Given the description of an element on the screen output the (x, y) to click on. 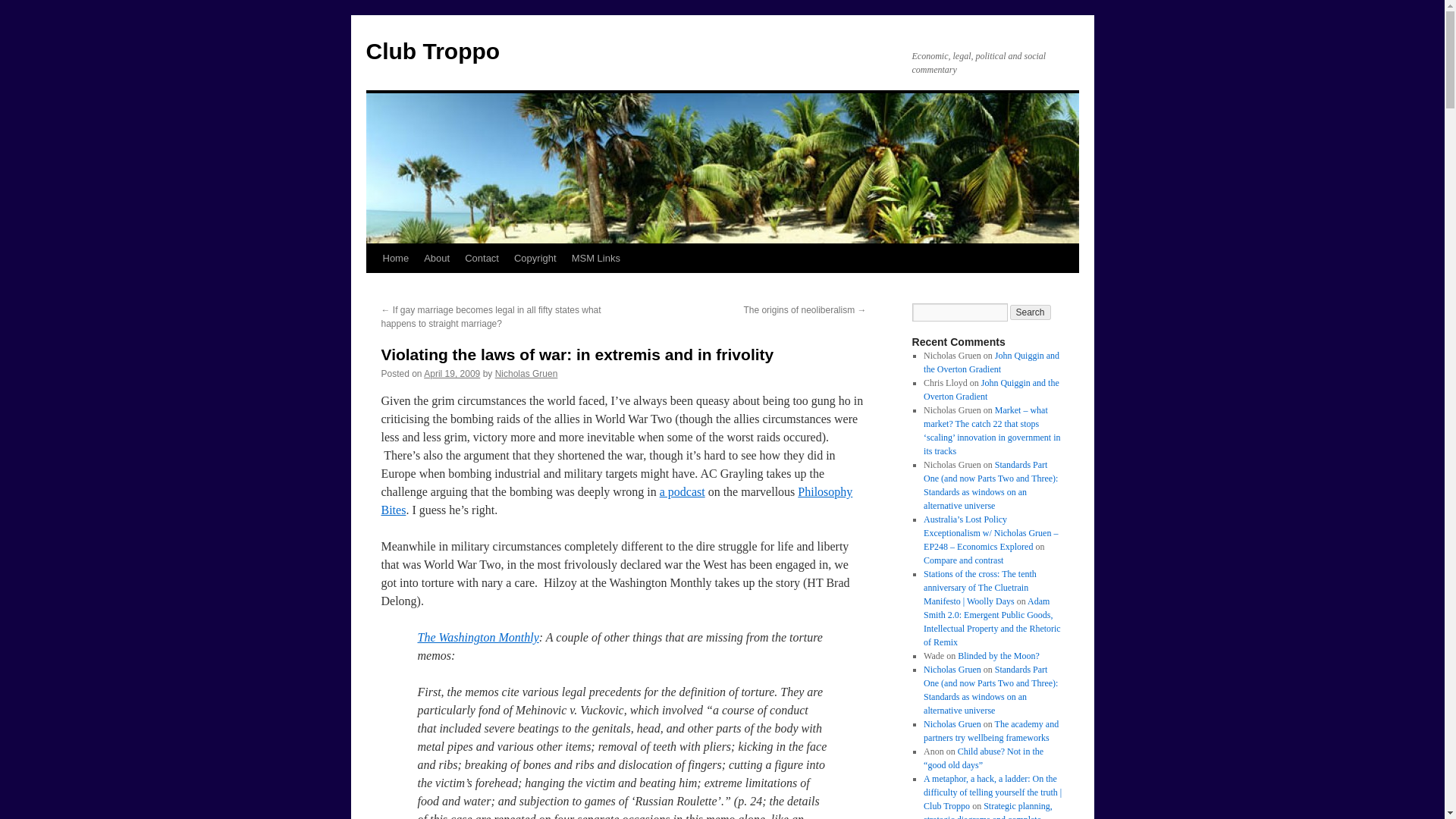
Nicholas Gruen (526, 373)
Home (395, 258)
Contact (481, 258)
Club Troppo (432, 50)
Philosophy Bites (615, 500)
April 19, 2009 (451, 373)
a podcast (681, 491)
About (436, 258)
View all posts by Nicholas Gruen (526, 373)
Club Troppo (432, 50)
Copyright (535, 258)
MSM Links (595, 258)
6:46 am (451, 373)
The Washington Monthly (477, 636)
Search (1030, 312)
